Given the description of an element on the screen output the (x, y) to click on. 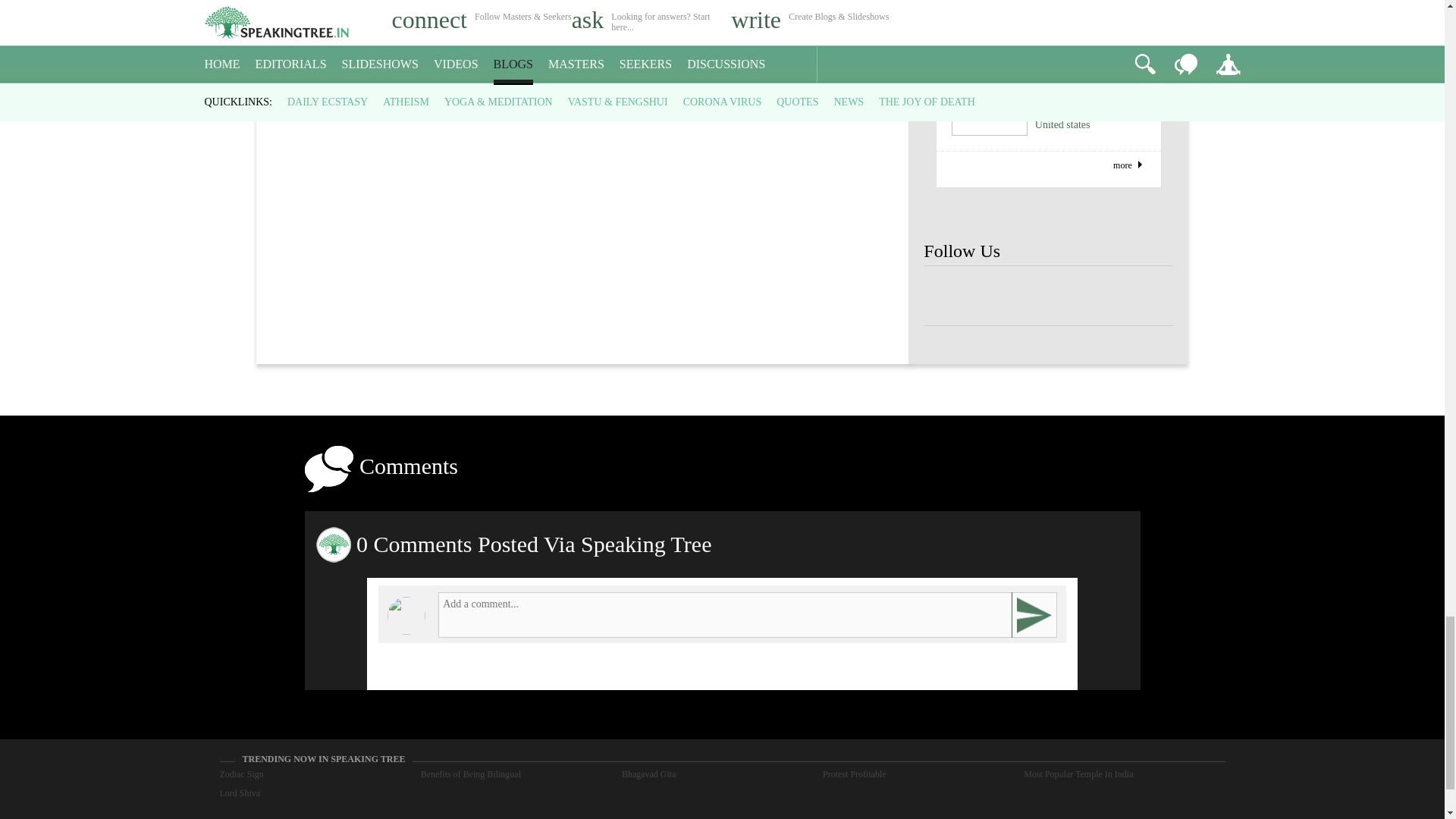
Speaking Tree FaceBook (1048, 296)
Speaking Tree FaceBook (998, 296)
Speaking Tree FaceBook (1147, 296)
Speaking Tree FaceBook (948, 296)
Speaking Tree FaceBook (1099, 296)
